Given the description of an element on the screen output the (x, y) to click on. 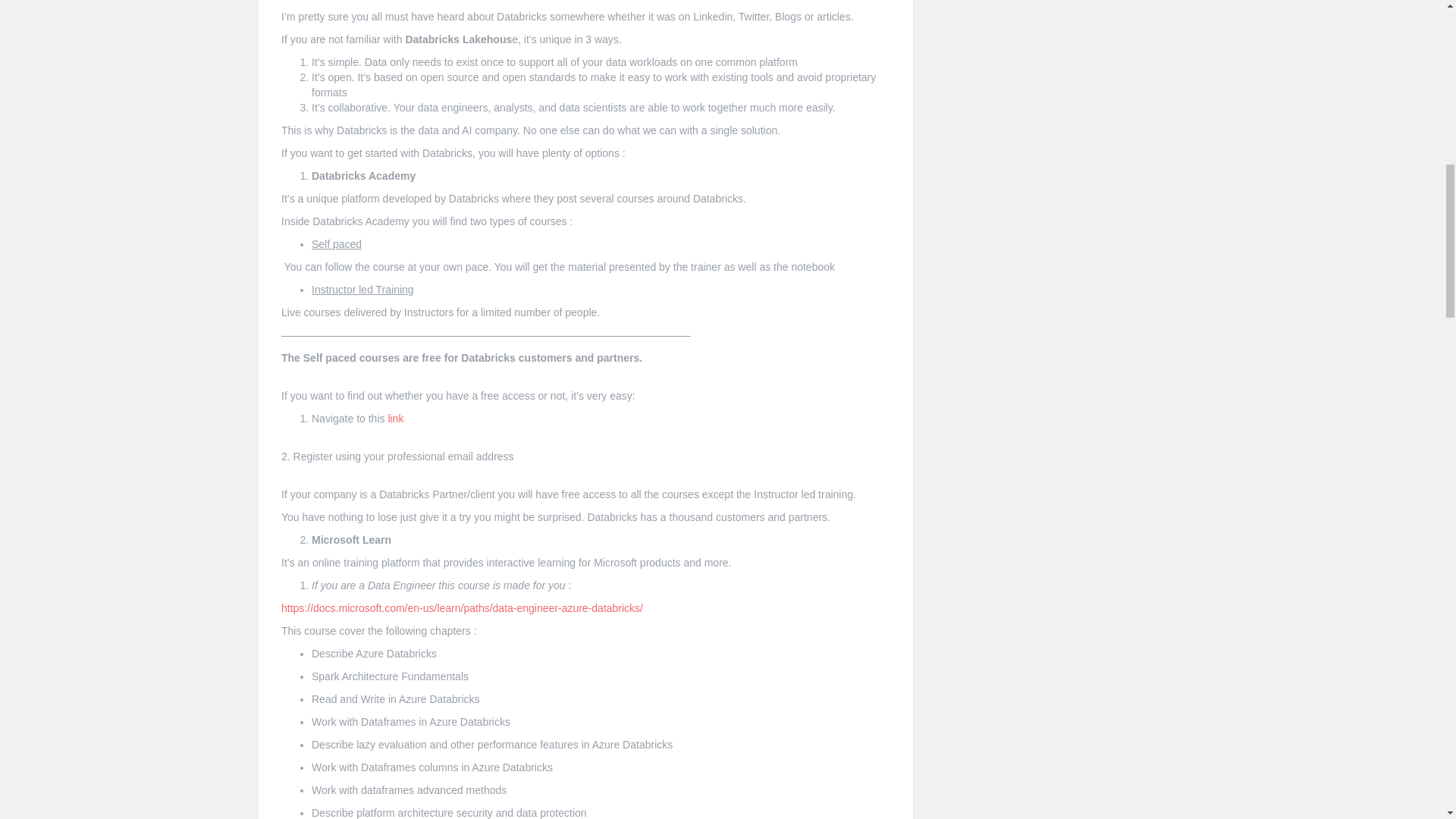
link (395, 418)
